Given the description of an element on the screen output the (x, y) to click on. 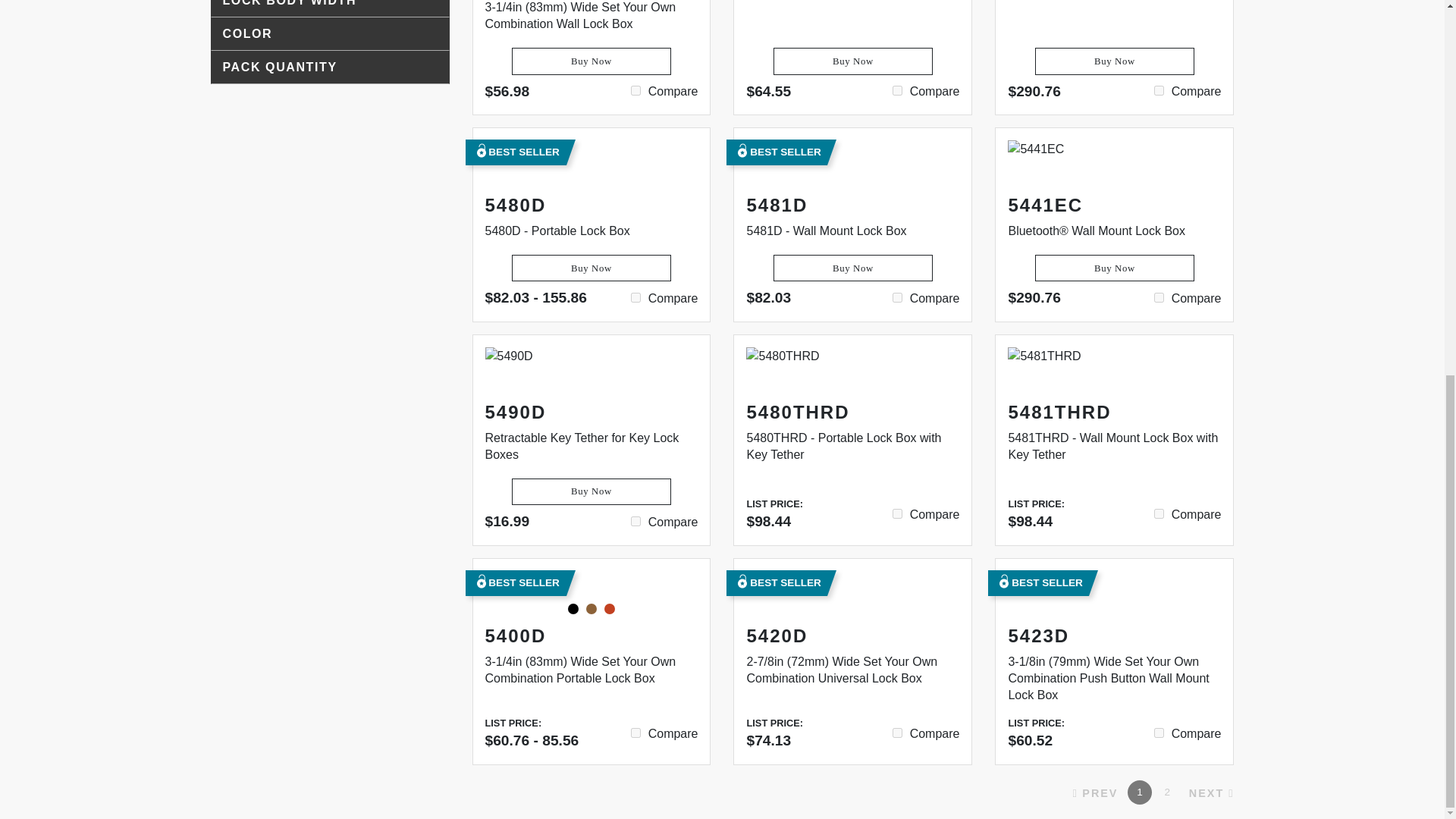
5420D (897, 732)
5490D (635, 521)
5440EC (1158, 90)
5481D (897, 297)
5401D (635, 90)
5400D (635, 732)
5481THRD (1158, 513)
5422D (897, 90)
5480THRD (897, 513)
5423D (1158, 732)
